Given the description of an element on the screen output the (x, y) to click on. 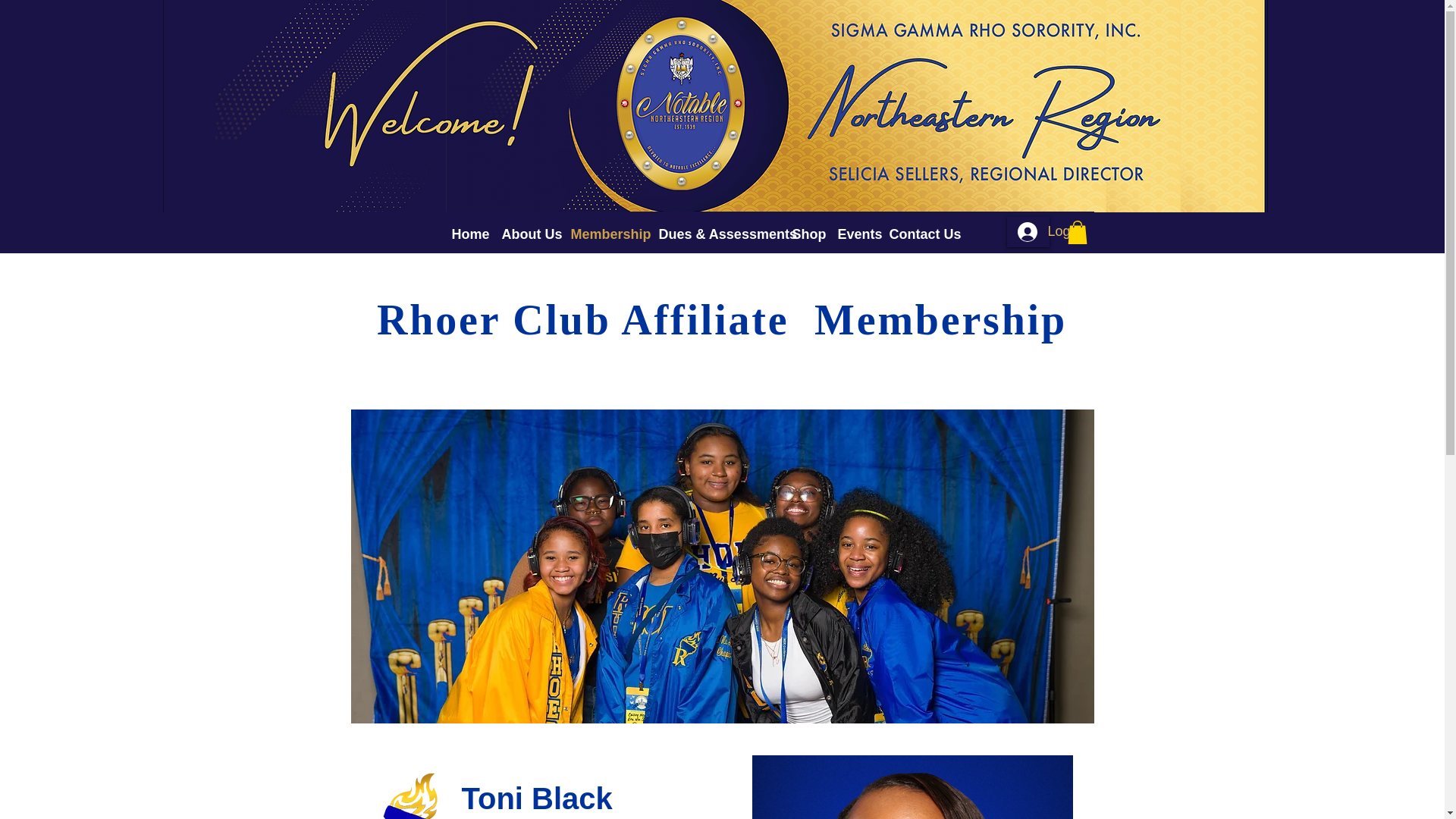
Contact Us (920, 231)
Membership (606, 231)
About Us (529, 231)
Events (854, 231)
Home (469, 231)
Shop (806, 231)
Log In (1028, 231)
